Given the description of an element on the screen output the (x, y) to click on. 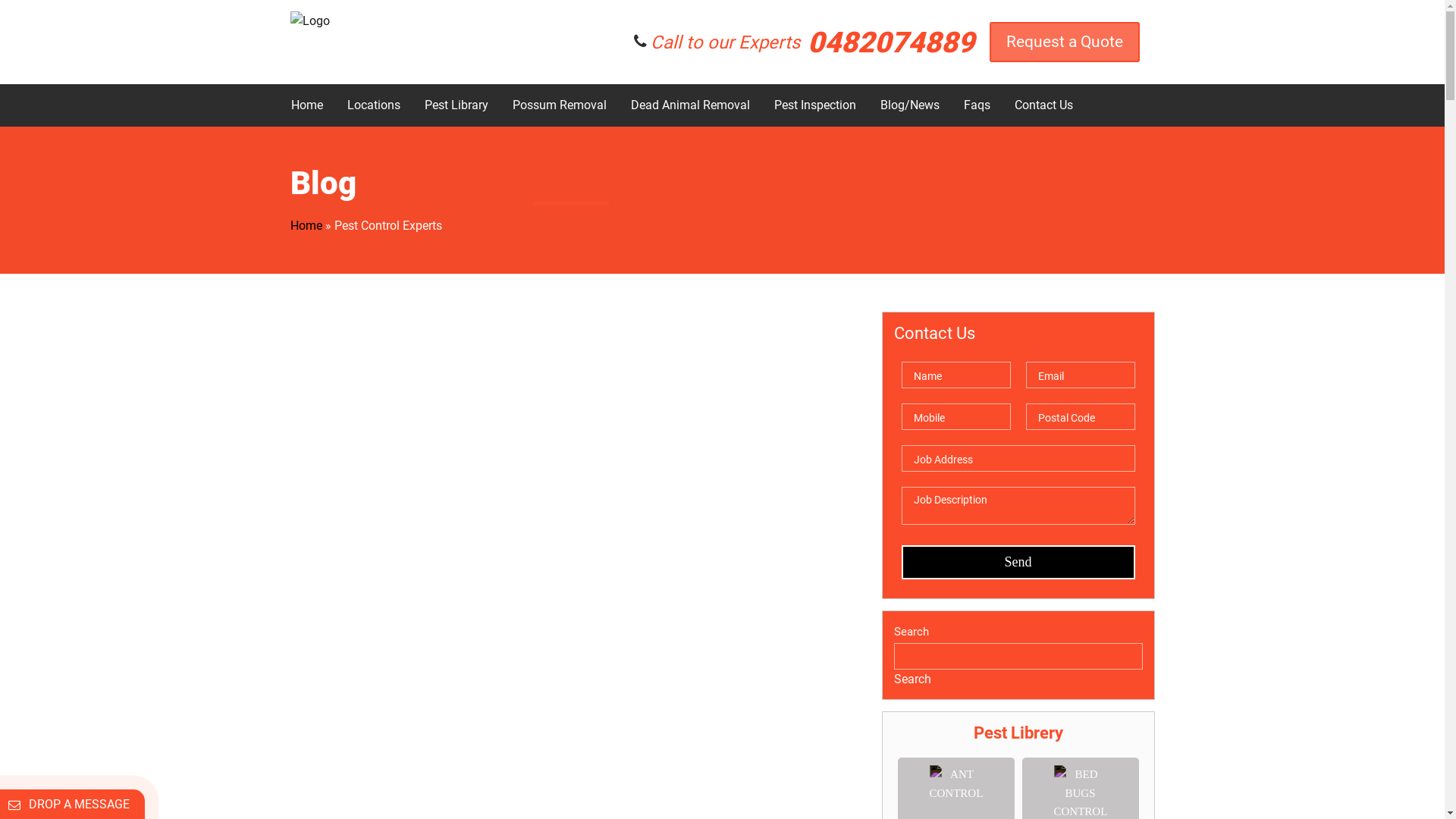
Faqs Element type: text (976, 105)
Possum Removal Element type: text (558, 105)
Home Element type: text (306, 105)
Home Element type: text (305, 225)
Call to our Experts
0482074889 Element type: text (812, 41)
Request a Quote Element type: text (1063, 41)
Search Element type: text (911, 678)
Pest Library Element type: text (455, 105)
Blog/News Element type: text (909, 105)
Pest Inspection Element type: text (814, 105)
Contact Us Element type: text (1042, 105)
Locations Element type: text (373, 105)
Send Element type: text (1017, 562)
Dead Animal Removal Element type: text (689, 105)
